Given the description of an element on the screen output the (x, y) to click on. 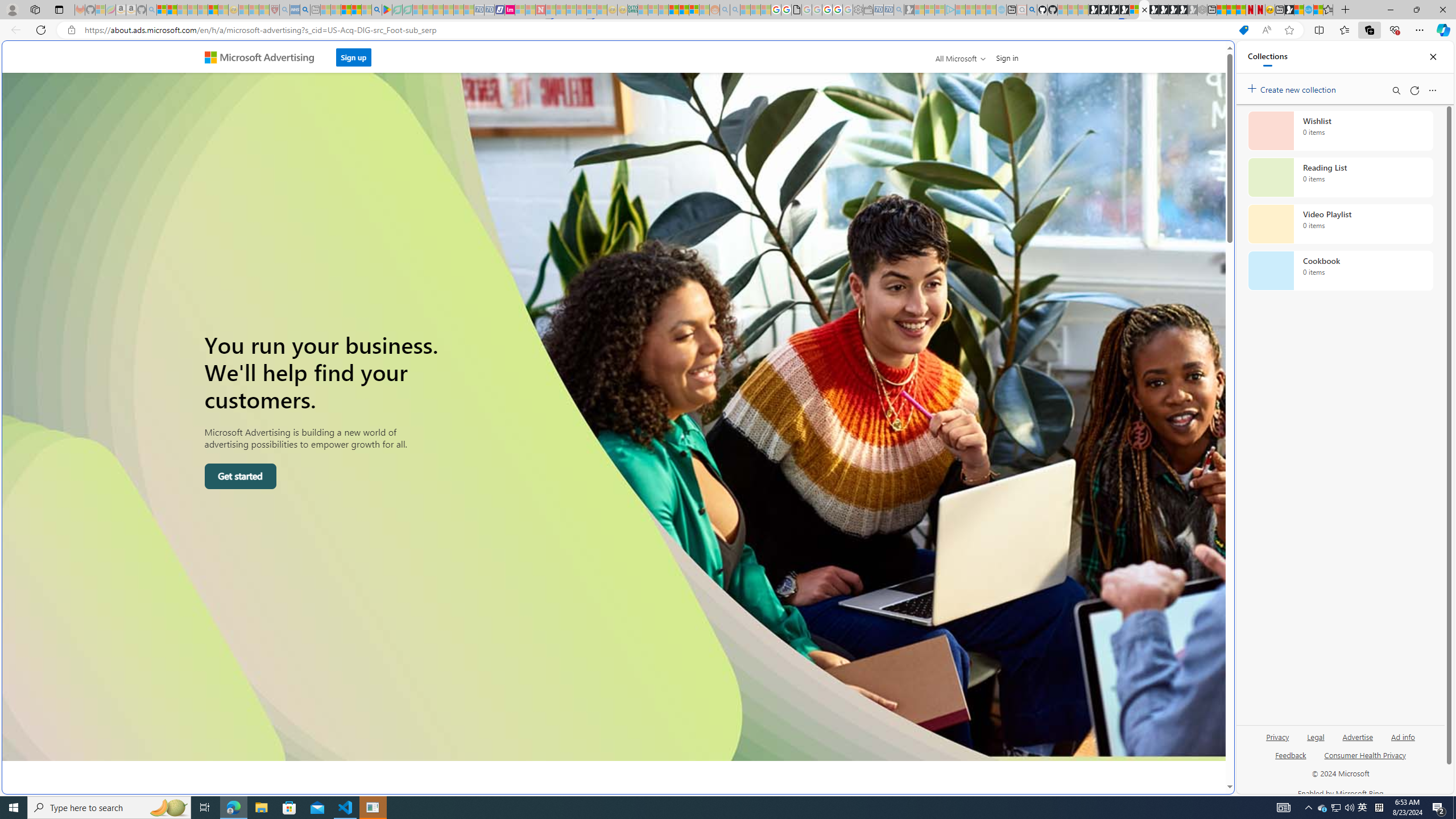
Close split screen (1208, 57)
Overview (1144, 9)
utah sues federal government - Search (922, 389)
